Given the description of an element on the screen output the (x, y) to click on. 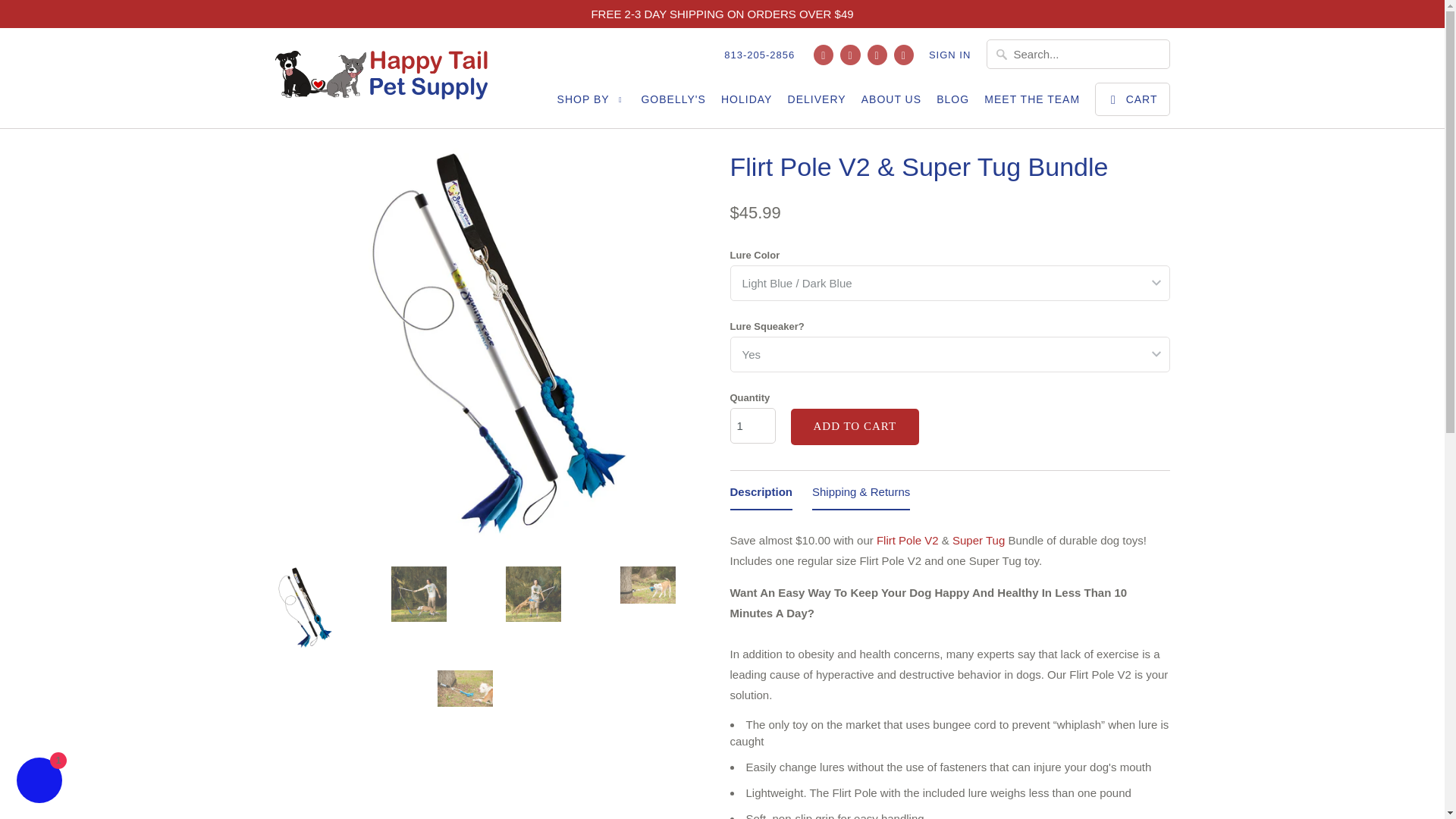
SIGN IN (949, 58)
MEET THE TEAM (1032, 102)
SHOP BY (591, 103)
CART (1131, 99)
Happy Tail Pet Supply (380, 77)
Email Happy Tail Pet Supply (903, 55)
Happy Tail Pet Supply on Twitter (822, 55)
GOBELLY'S (672, 102)
813-205-2856 (758, 58)
HOLIDAY (745, 102)
BLOG (952, 102)
1 (751, 425)
Shopify online store chat (38, 781)
Cart (1131, 99)
DELIVERY (816, 102)
